Given the description of an element on the screen output the (x, y) to click on. 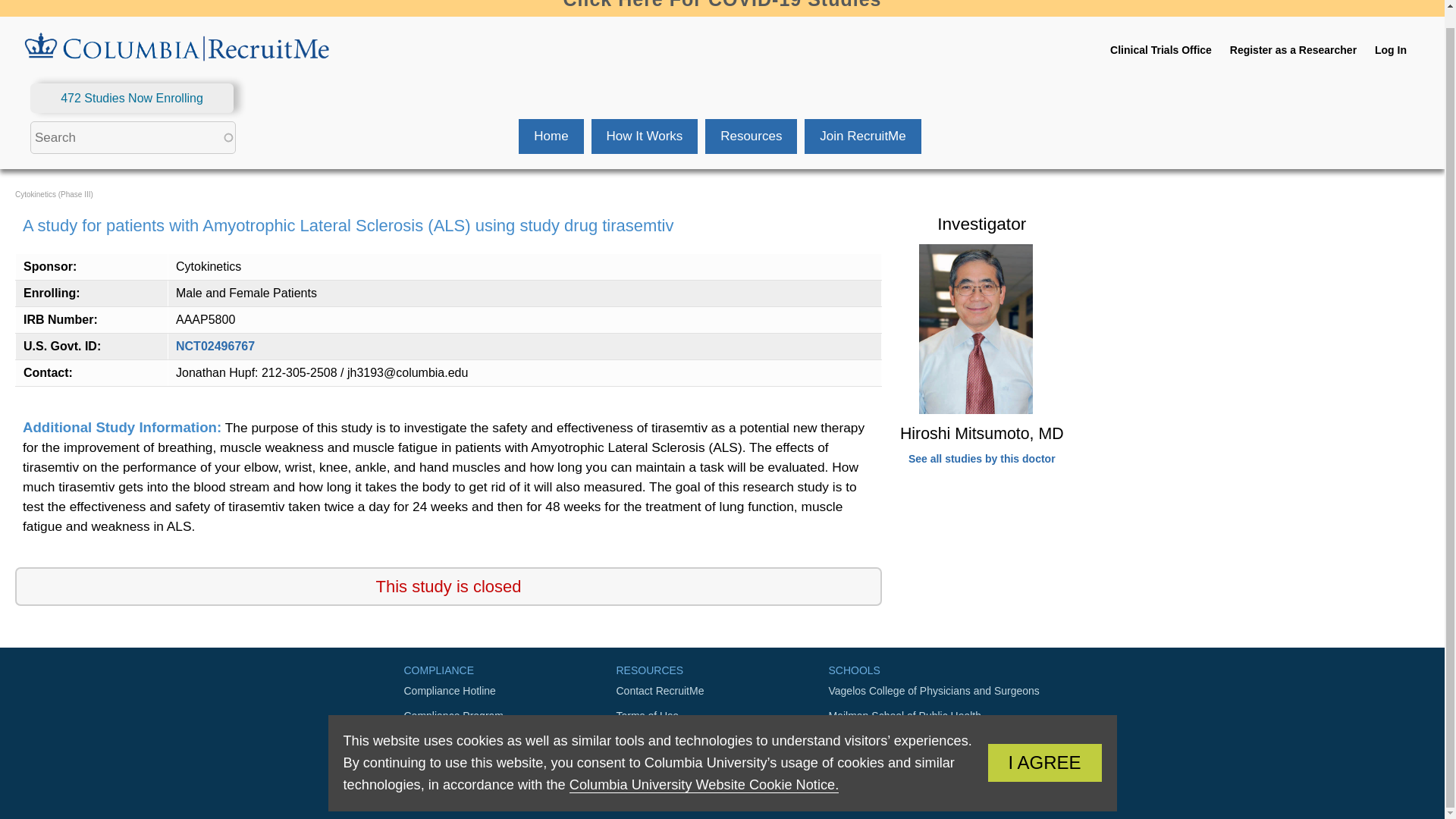
Home (550, 135)
Privacy Policy (721, 740)
Compliance Program (509, 715)
Columbia University Website Cookie Notice. (703, 767)
School of Nursing (934, 740)
College of Dental Medicine (934, 765)
Clinical Trials Office (1161, 50)
NCT02496767 (215, 345)
See all studies by this doctor (981, 458)
Compliance Hotline (509, 690)
Register as a Researcher (1293, 50)
Mailman School of Public Health (934, 715)
Log in to the system if you already have an account (1390, 50)
Graduate School of Arts and Science (934, 790)
Vagelos College of Physicians and Surgeons (934, 690)
